Given the description of an element on the screen output the (x, y) to click on. 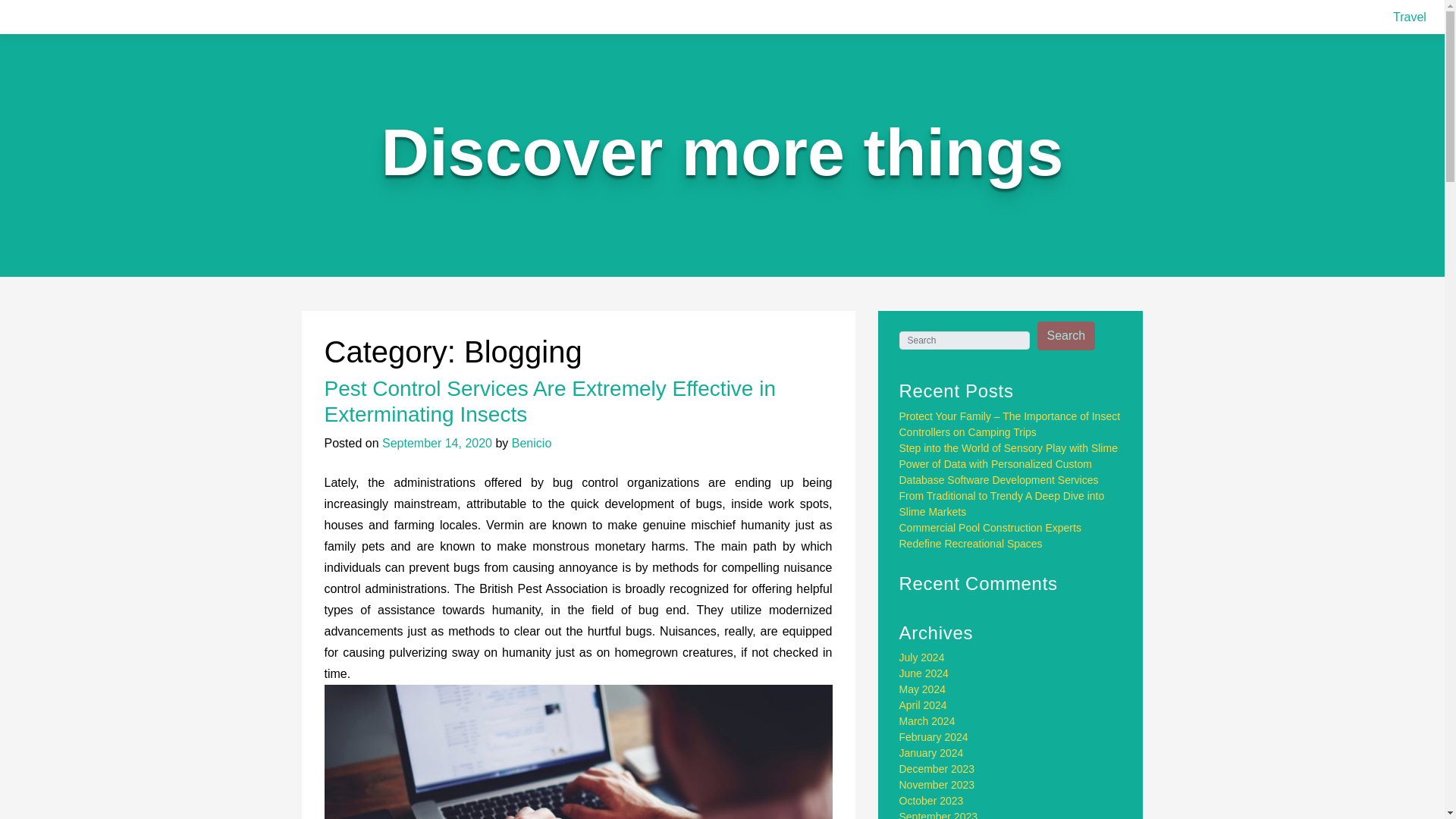
July 2024 (921, 657)
November 2023 (937, 784)
Travel (1409, 16)
May 2024 (921, 689)
October 2023 (931, 800)
Travel (1409, 16)
April 2024 (923, 705)
Step into the World of Sensory Play with Slime (1008, 448)
Benicio (531, 442)
September 2023 (938, 814)
June 2024 (924, 673)
From Traditional to Trendy A Deep Dive into Slime Markets (1002, 503)
December 2023 (937, 768)
Search (1066, 335)
